Given the description of an element on the screen output the (x, y) to click on. 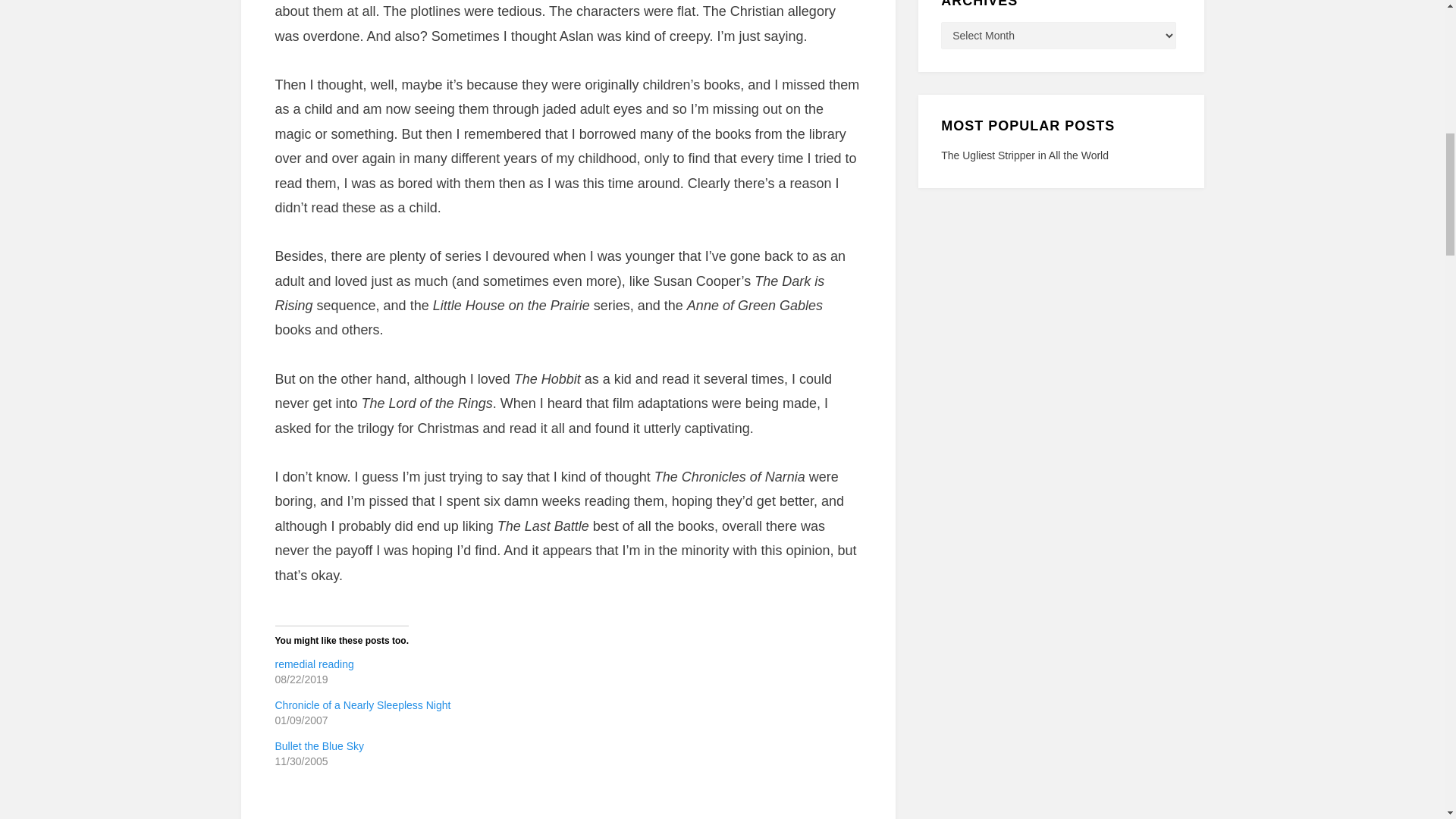
Bullet the Blue Sky (319, 746)
remedial reading (314, 664)
Bullet the Blue Sky (319, 746)
Chronicle of a Nearly Sleepless Night (362, 705)
remedial reading (314, 664)
Chronicle of a Nearly Sleepless Night (362, 705)
